Given the description of an element on the screen output the (x, y) to click on. 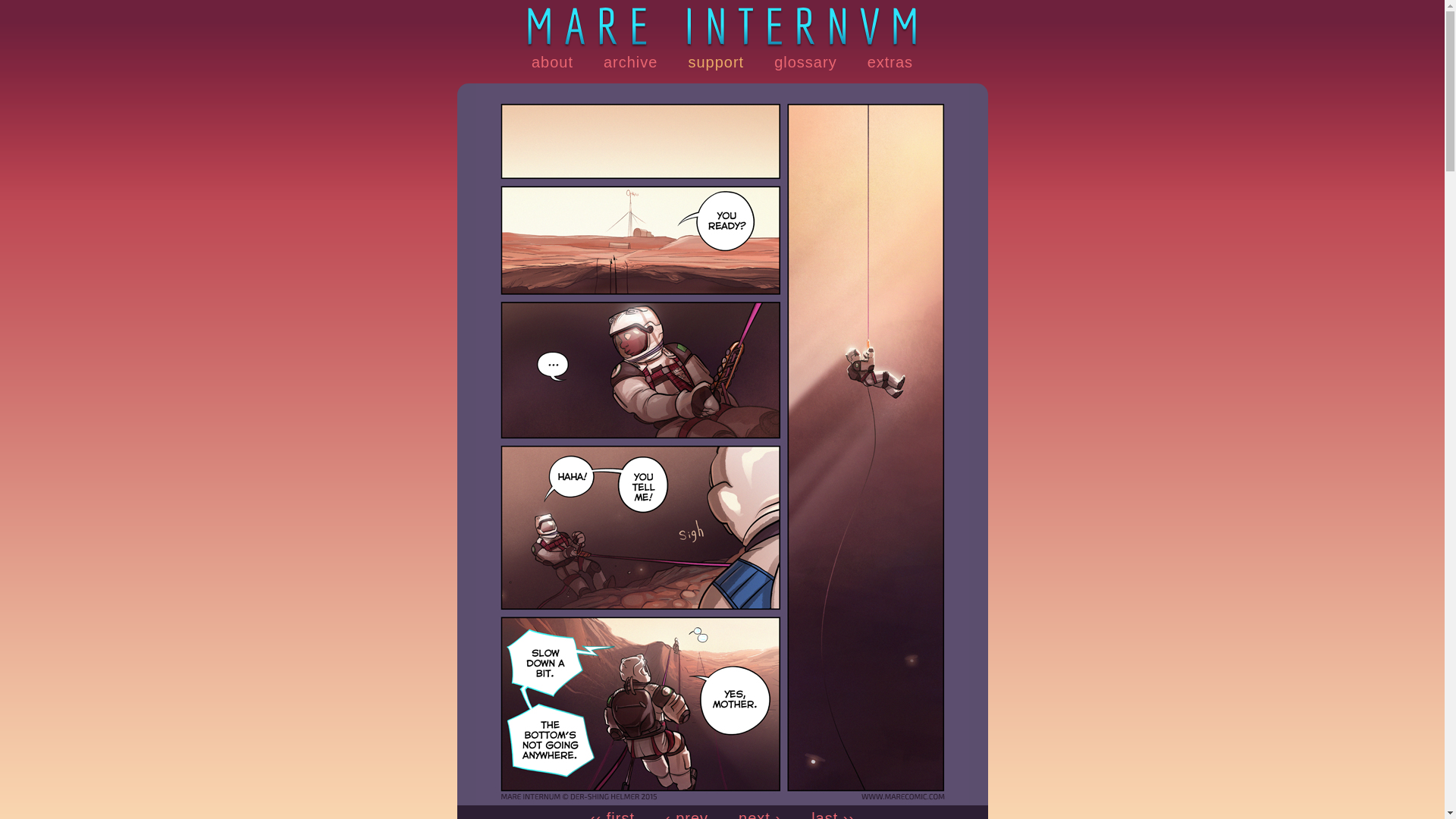
extras (889, 62)
Page 27 (722, 799)
Mare Internum (721, 24)
about (552, 62)
archive (630, 62)
support (715, 62)
glossary (804, 62)
